Given the description of an element on the screen output the (x, y) to click on. 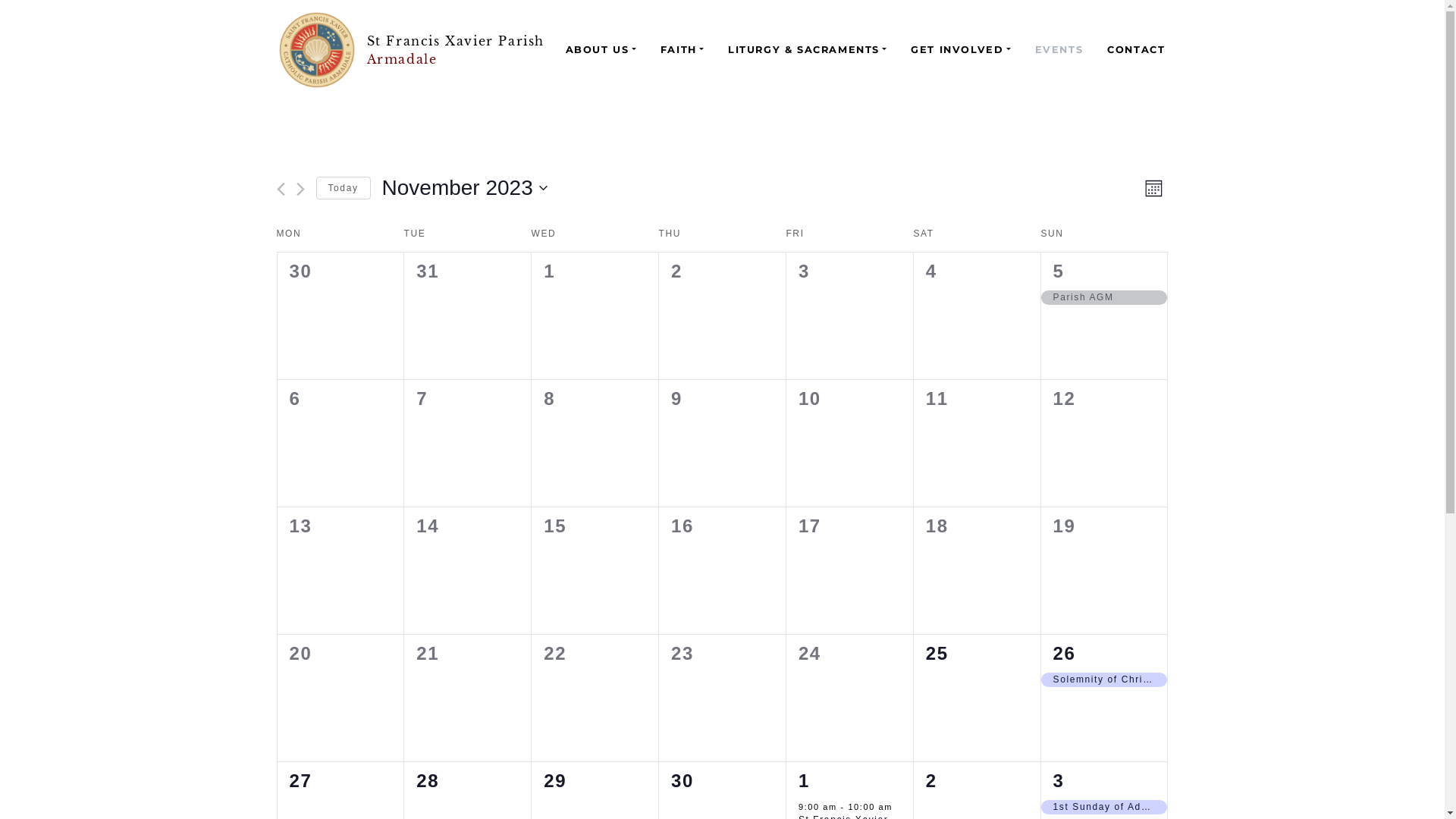
26 Element type: text (1064, 653)
Previous month Element type: hover (280, 189)
GET INVOLVED Element type: text (960, 49)
1 Element type: text (803, 780)
LITURGY & SACRAMENTS Element type: text (806, 49)
5 Element type: text (1058, 270)
Next month Element type: hover (299, 189)
EVENTS Element type: text (1058, 49)
Today Element type: text (342, 188)
Month Element type: text (1153, 187)
ABOUT US Element type: text (600, 49)
3 Element type: text (1058, 780)
FAITH Element type: text (681, 49)
CONTACT Element type: text (1135, 49)
St Francis Xavier Parish
Armadale Element type: text (411, 49)
November 2023 Element type: text (464, 187)
